Given the description of an element on the screen output the (x, y) to click on. 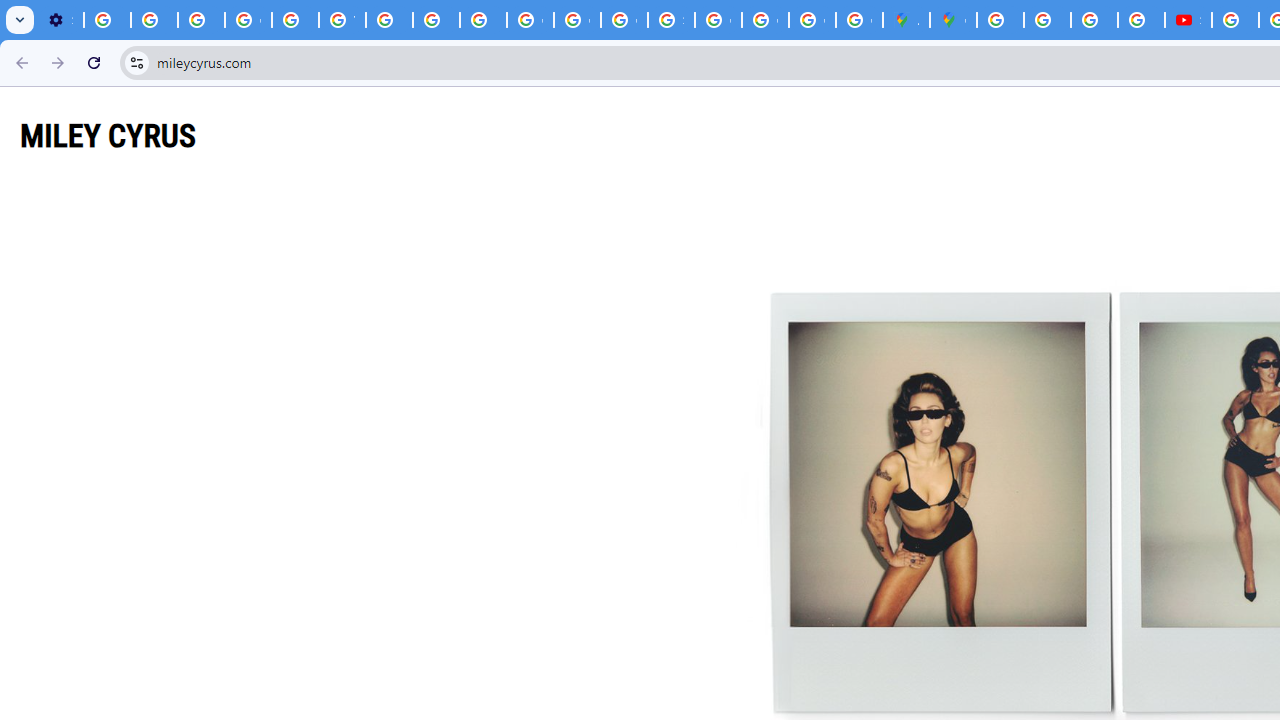
https://scholar.google.com/ (389, 20)
Google Account Help (248, 20)
Privacy Help Center - Policies Help (1047, 20)
Delete photos & videos - Computer - Google Photos Help (107, 20)
Subscriptions - YouTube (1188, 20)
Google Maps (953, 20)
How Chrome protects your passwords - Google Chrome Help (1235, 20)
